Given the description of an element on the screen output the (x, y) to click on. 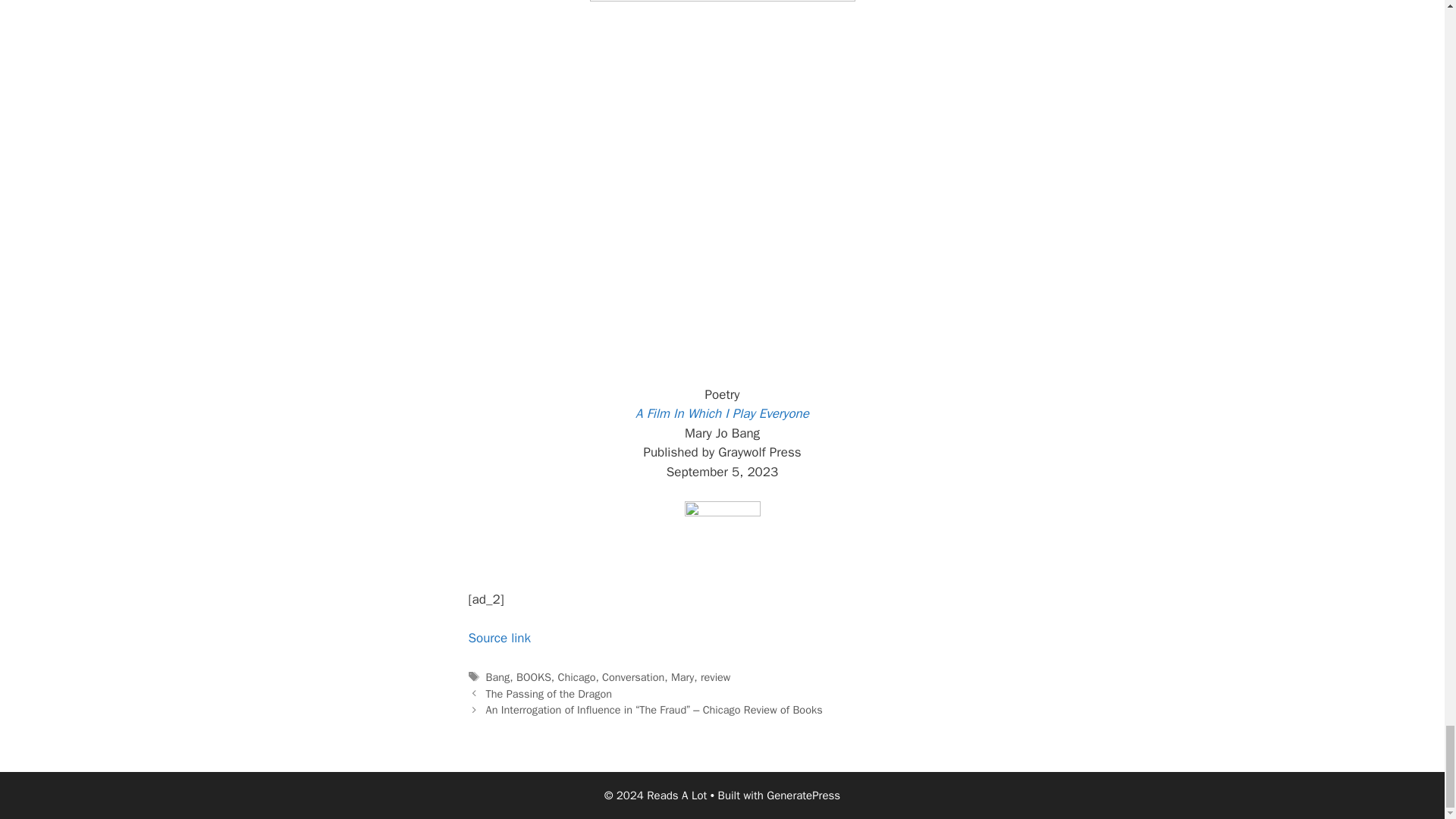
Conversation (632, 676)
Chicago (576, 676)
review (715, 676)
GeneratePress (803, 795)
The Passing of the Dragon (548, 694)
Bang (498, 676)
Mary (682, 676)
BOOKS (533, 676)
Source link (499, 637)
Next (654, 709)
